Given the description of an element on the screen output the (x, y) to click on. 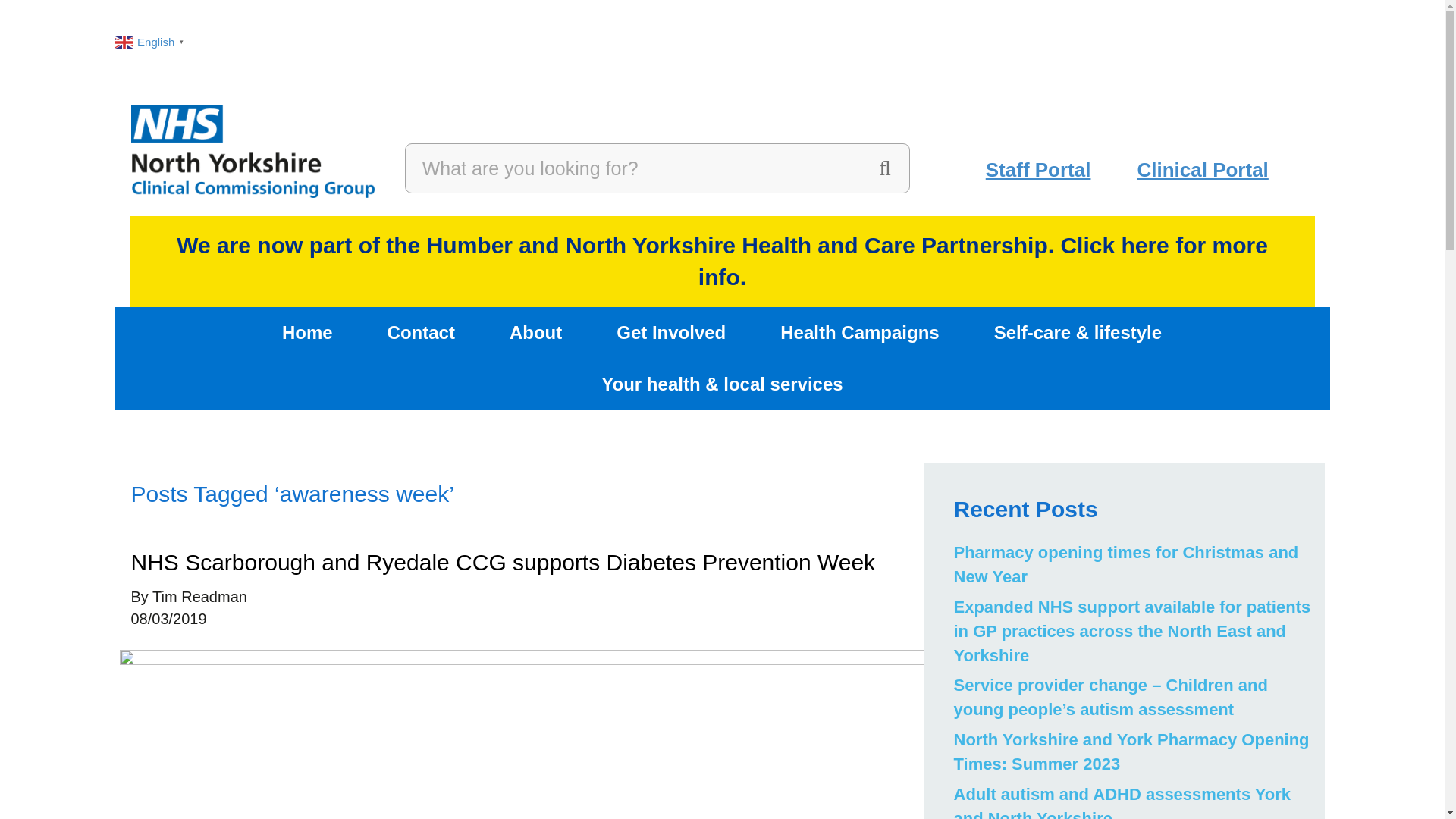
Group 7 (252, 151)
Clinical Portal (1201, 169)
About (536, 332)
Contact (421, 332)
Home (307, 332)
Staff Portal (1037, 169)
Search (633, 168)
